Given the description of an element on the screen output the (x, y) to click on. 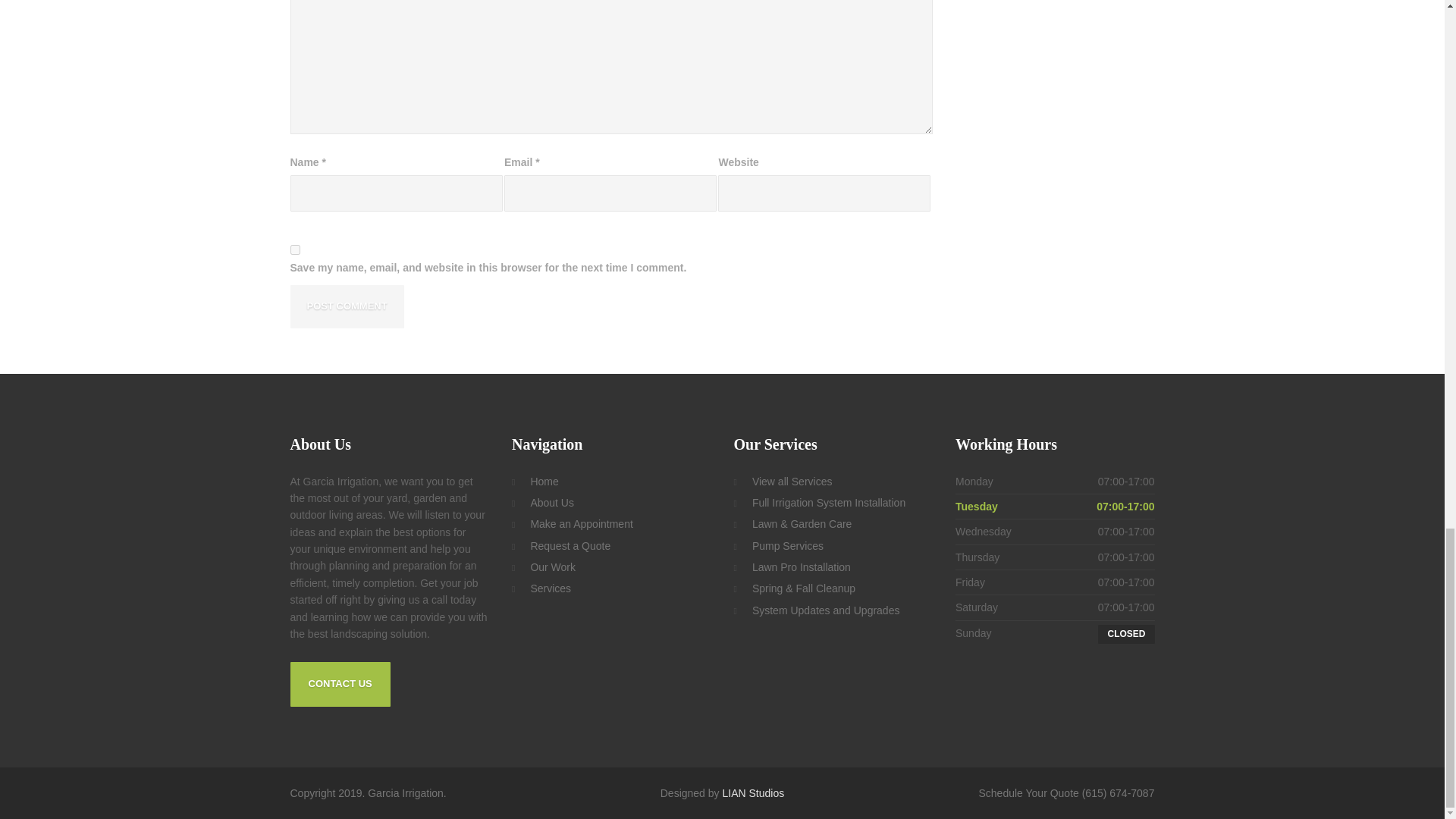
yes (294, 249)
Post Comment (346, 306)
Post Comment (346, 306)
